Given the description of an element on the screen output the (x, y) to click on. 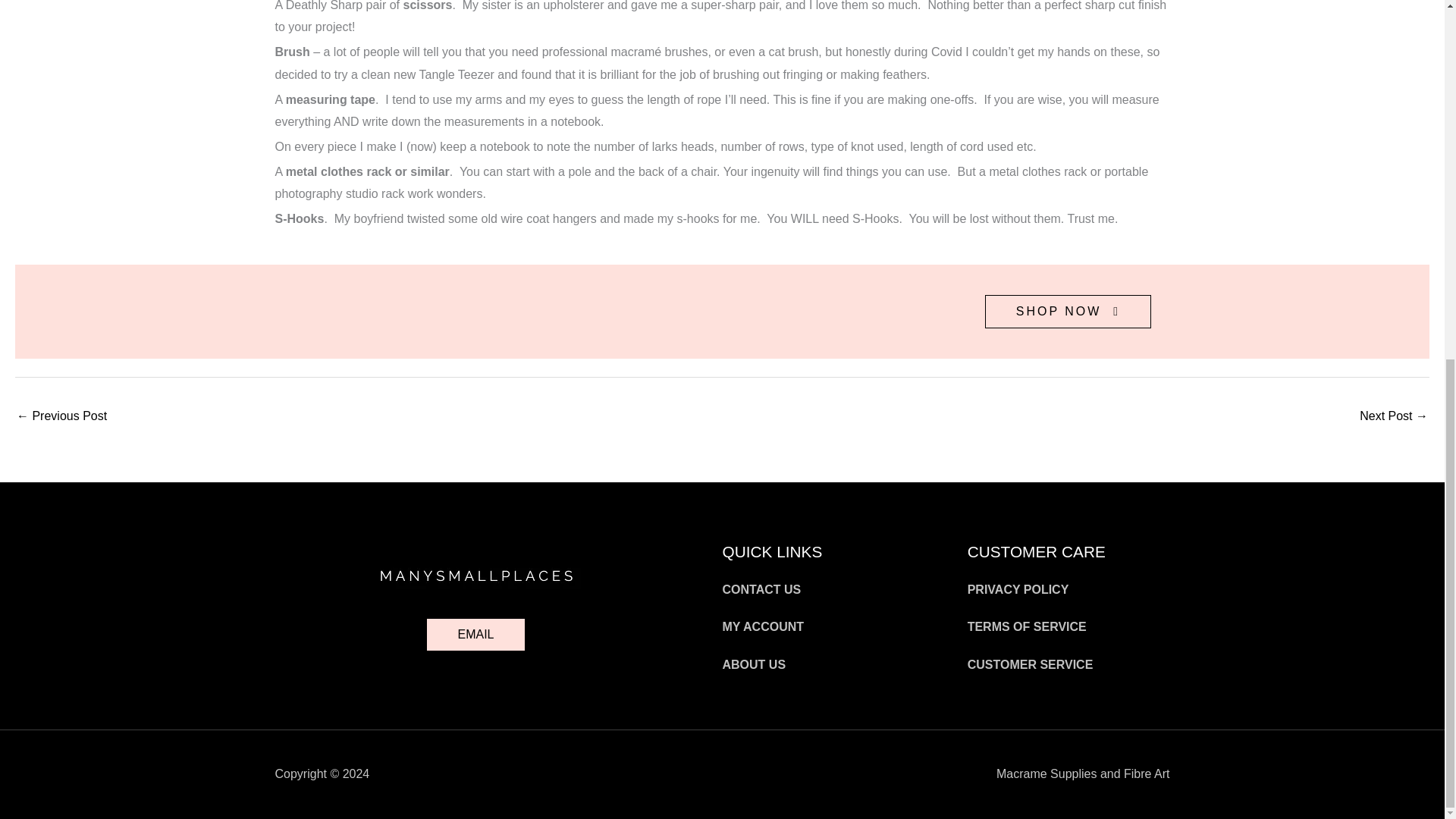
MANYSMALLPLACES (475, 574)
Disclaimer (61, 417)
